Given the description of an element on the screen output the (x, y) to click on. 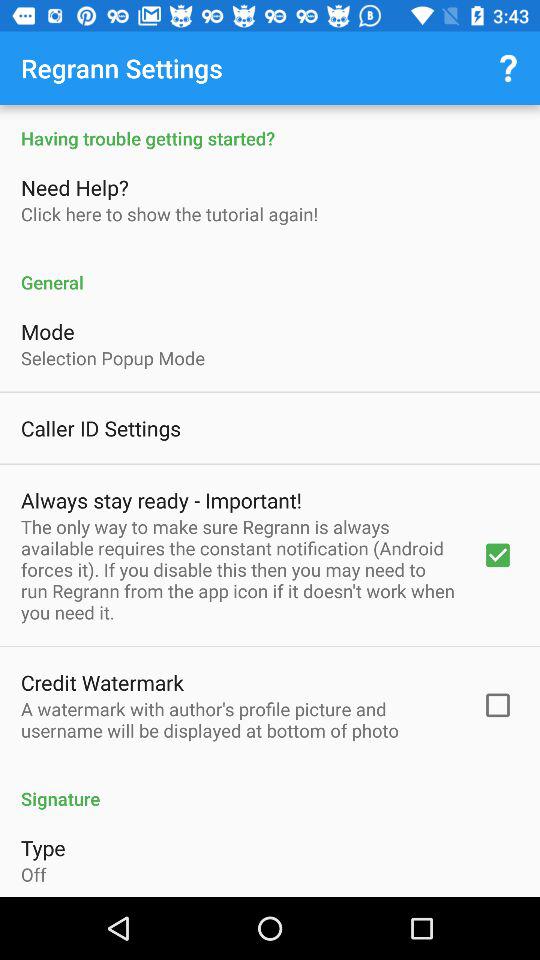
mark box (270, 501)
